Given the description of an element on the screen output the (x, y) to click on. 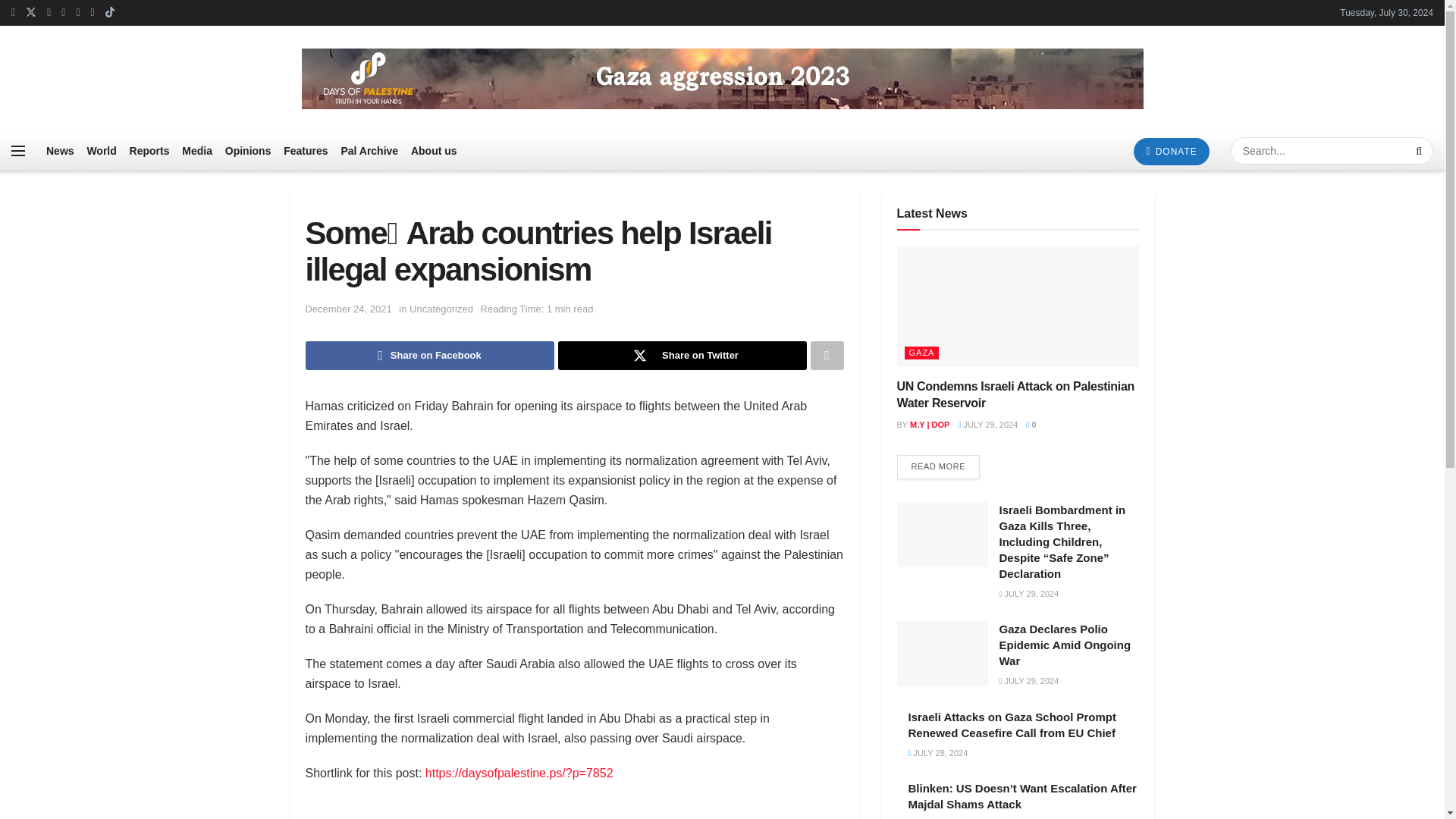
Features (305, 150)
Reports (149, 150)
Pal Archive (368, 150)
Opinions (247, 150)
